Given the description of an element on the screen output the (x, y) to click on. 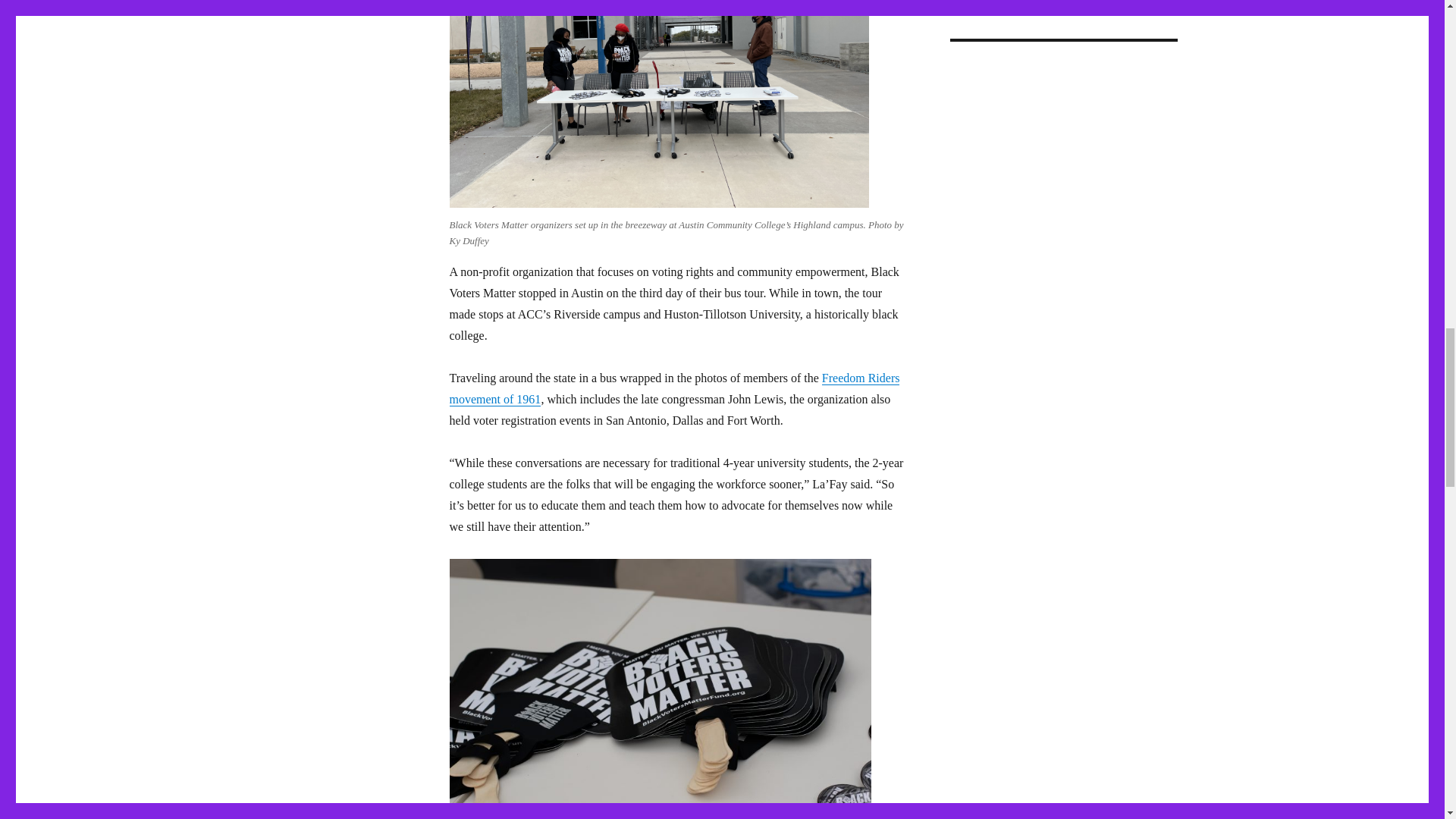
ACC Student Life 101 (1062, 121)
Freedom Riders movement of 1961 (673, 388)
